Given the description of an element on the screen output the (x, y) to click on. 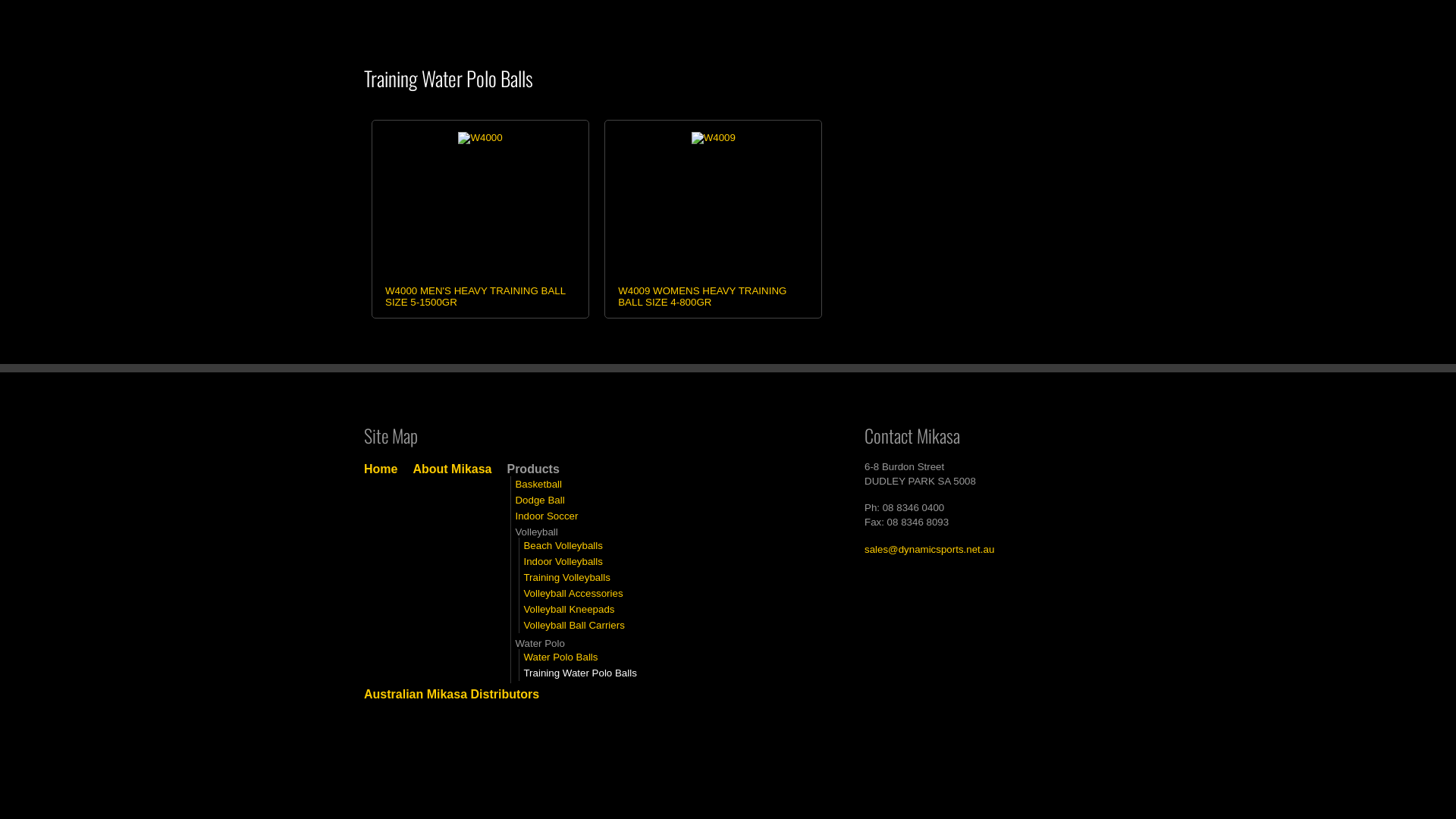
Australian Mikasa Distributors Element type: text (841, 25)
Dodge Ball Element type: text (539, 499)
Indoor Soccer Element type: text (545, 515)
Products Element type: text (755, 25)
W4009 WOMENS HEAVY TRAINING BALL SIZE 4-800GR Element type: text (702, 296)
Volleyball Ball Carriers Element type: text (573, 624)
Volleyball Kneepads Element type: text (568, 609)
Water Polo Balls Element type: text (560, 656)
Home Element type: text (586, 25)
Training Volleyballs Element type: text (566, 577)
Mikasa Sports Australia Element type: text (454, 21)
About Mikasa Element type: text (451, 468)
Volleyball Accessories Element type: text (572, 593)
W4000 MEN'S HEAVY TRAINING BALL SIZE 5-1500GR Element type: hover (480, 137)
Training Water Polo Balls Element type: text (579, 672)
Australian Mikasa Distributors Element type: text (451, 693)
About Mikasa Element type: text (667, 25)
W4009 WOMENS HEAVY TRAINING BALL SIZE 4-800GR Element type: hover (713, 137)
Home Element type: text (380, 468)
Indoor Volleyballs Element type: text (562, 561)
Beach Volleyballs Element type: text (562, 545)
sales@dynamicsports.net.au Element type: text (929, 549)
W4000 MEN'S HEAVY TRAINING BALL SIZE 5-1500GR Element type: text (475, 296)
Basketball Element type: text (537, 483)
